Given the description of an element on the screen output the (x, y) to click on. 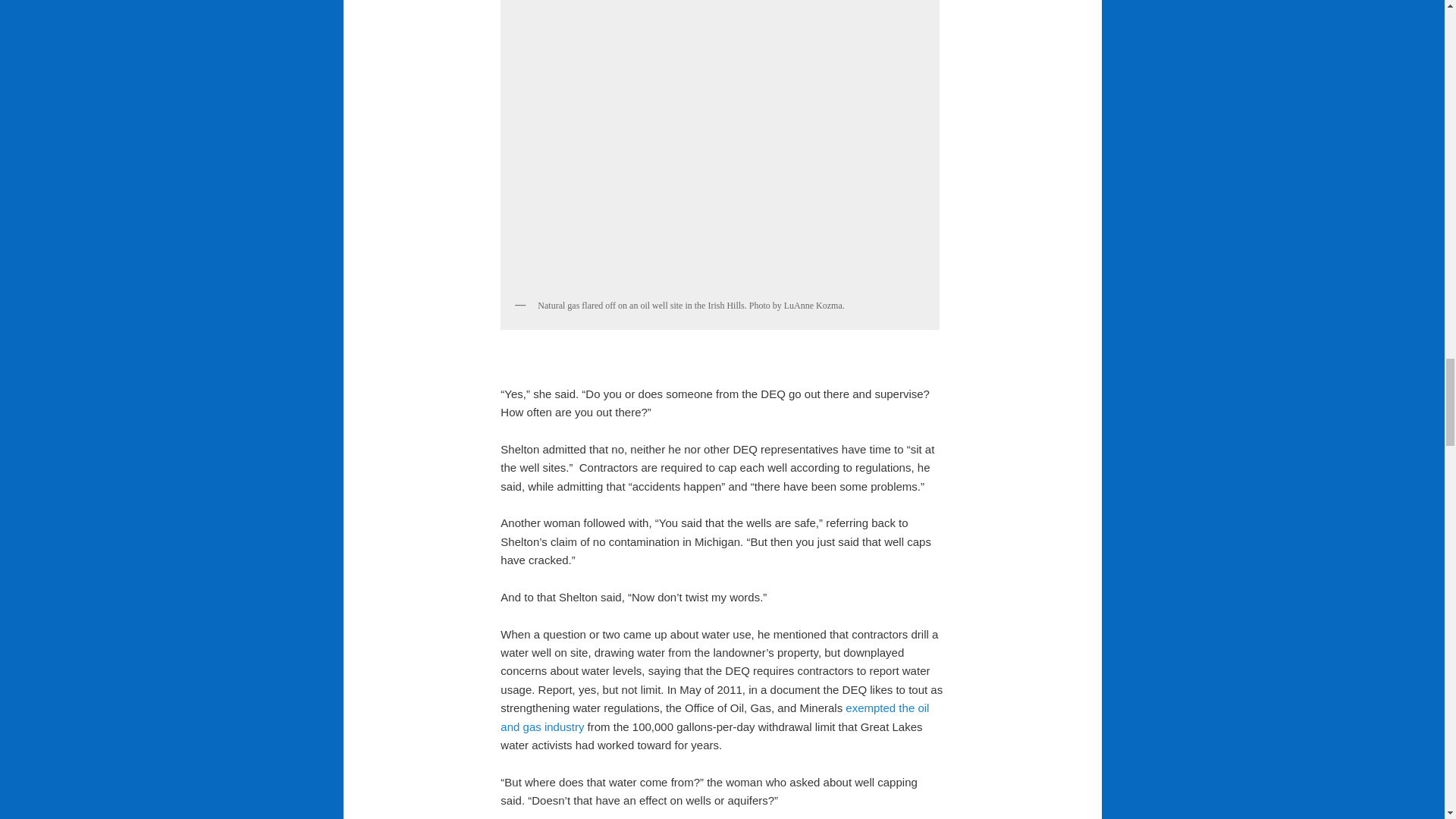
DEQ exemption for water withdrawal (714, 716)
exempted the oil and gas industry (714, 716)
